Given the description of an element on the screen output the (x, y) to click on. 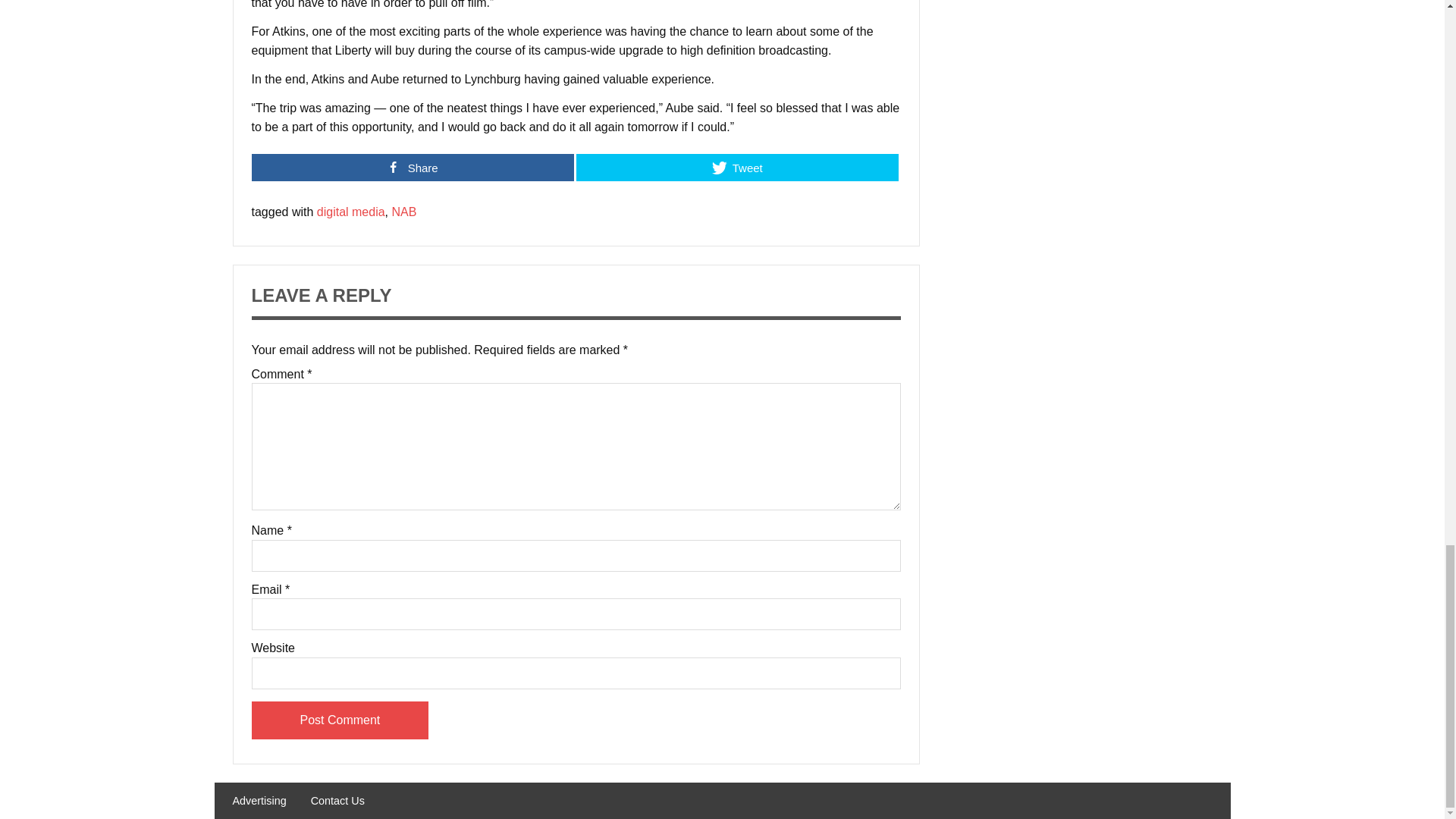
Post Comment (340, 720)
digital media (351, 211)
Post Comment (340, 720)
Tweet (737, 166)
Share (412, 166)
NAB (403, 211)
